Given the description of an element on the screen output the (x, y) to click on. 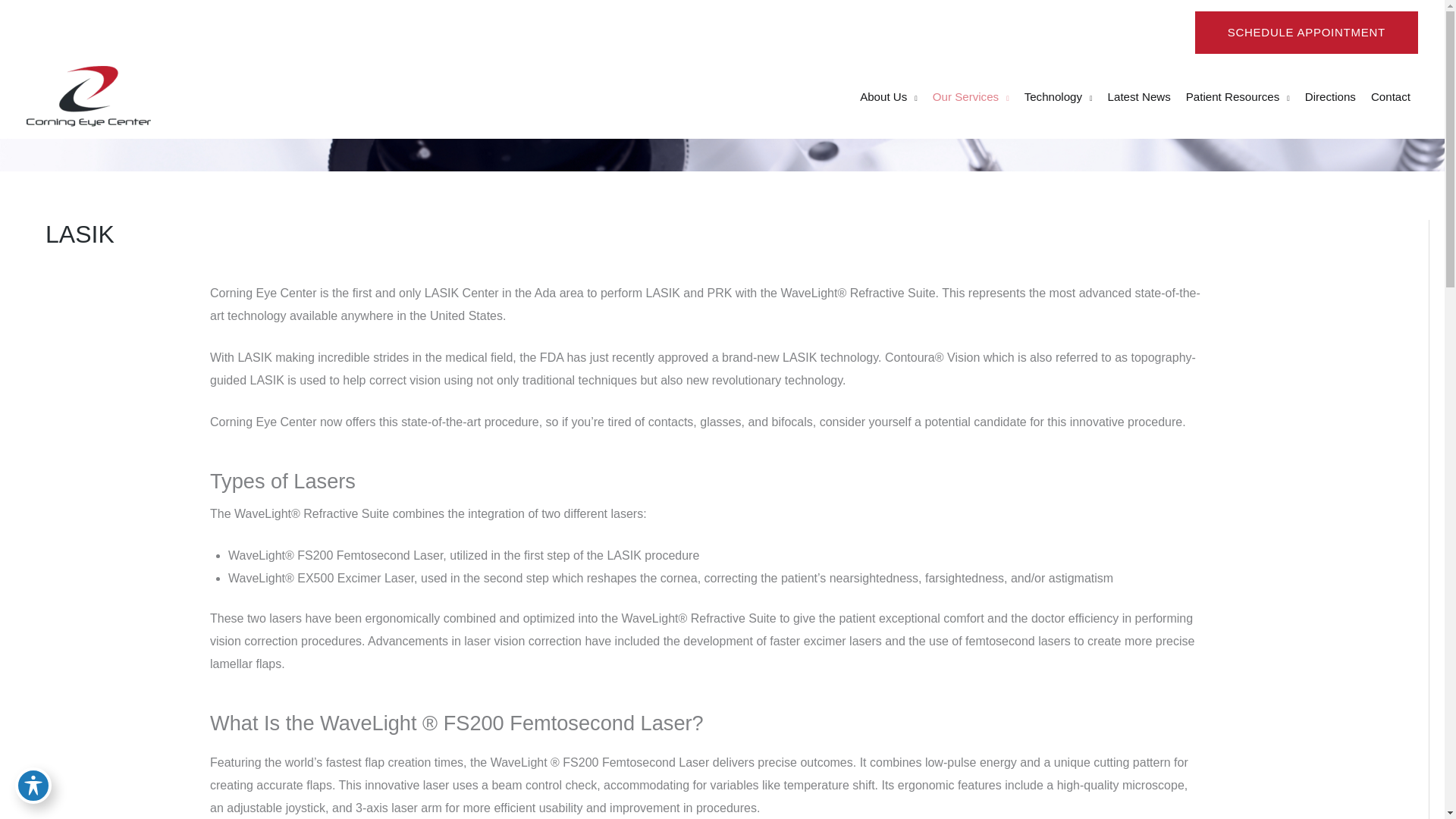
Our Services (970, 95)
Patient Resources (1237, 95)
SCHEDULE APPOINTMENT (1306, 32)
About Us (887, 95)
Latest News (1138, 95)
Directions (1329, 95)
Technology (1058, 95)
Contact (1390, 95)
